Given the description of an element on the screen output the (x, y) to click on. 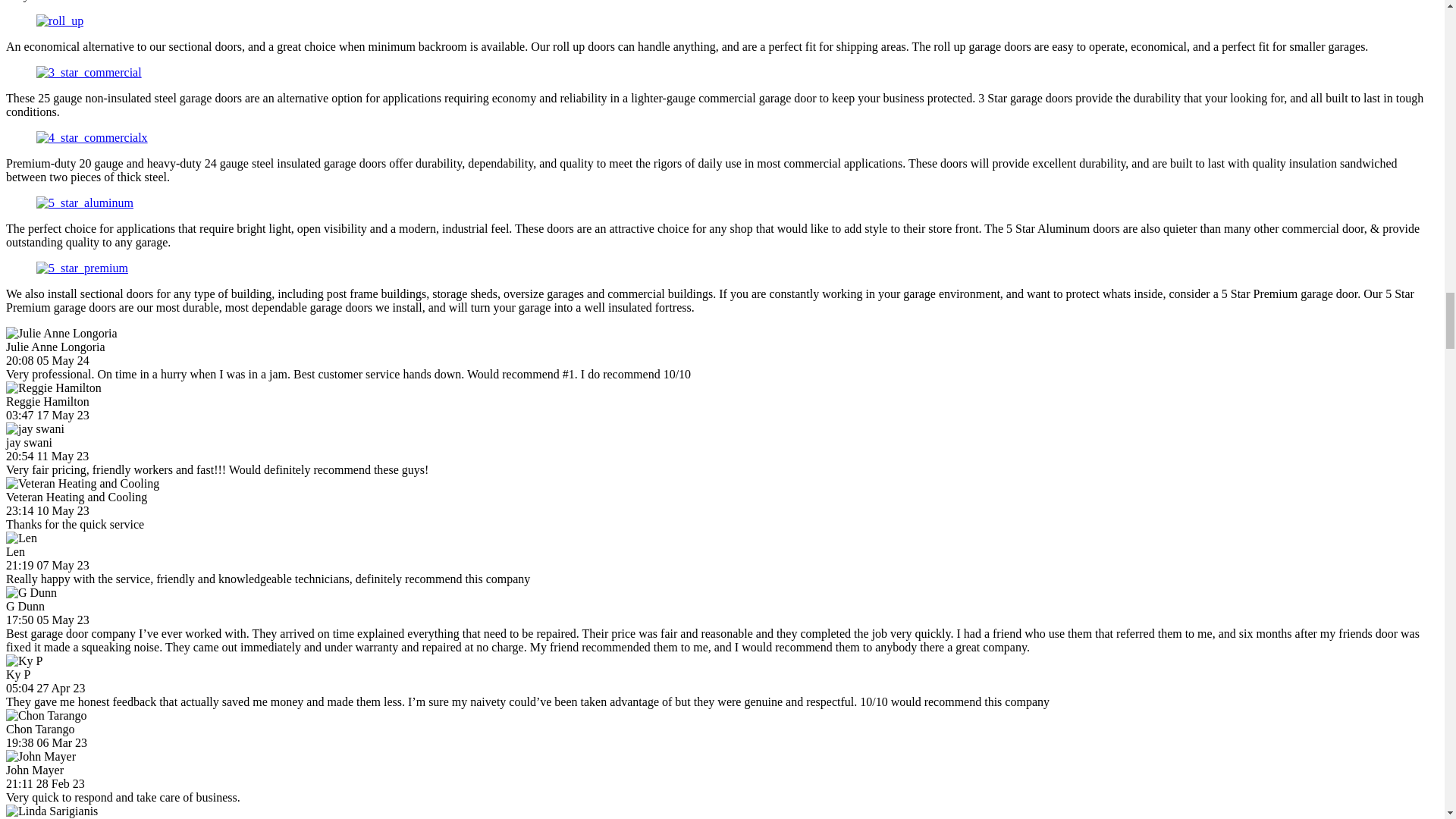
Len (21, 538)
Ky P (23, 661)
Veteran Heating and Cooling (81, 483)
Chon Tarango (46, 715)
G Dunn (30, 592)
Reggie Hamilton (53, 387)
Julie Anne Longoria (61, 333)
jay swani (34, 428)
John Mayer (40, 756)
